Given the description of an element on the screen output the (x, y) to click on. 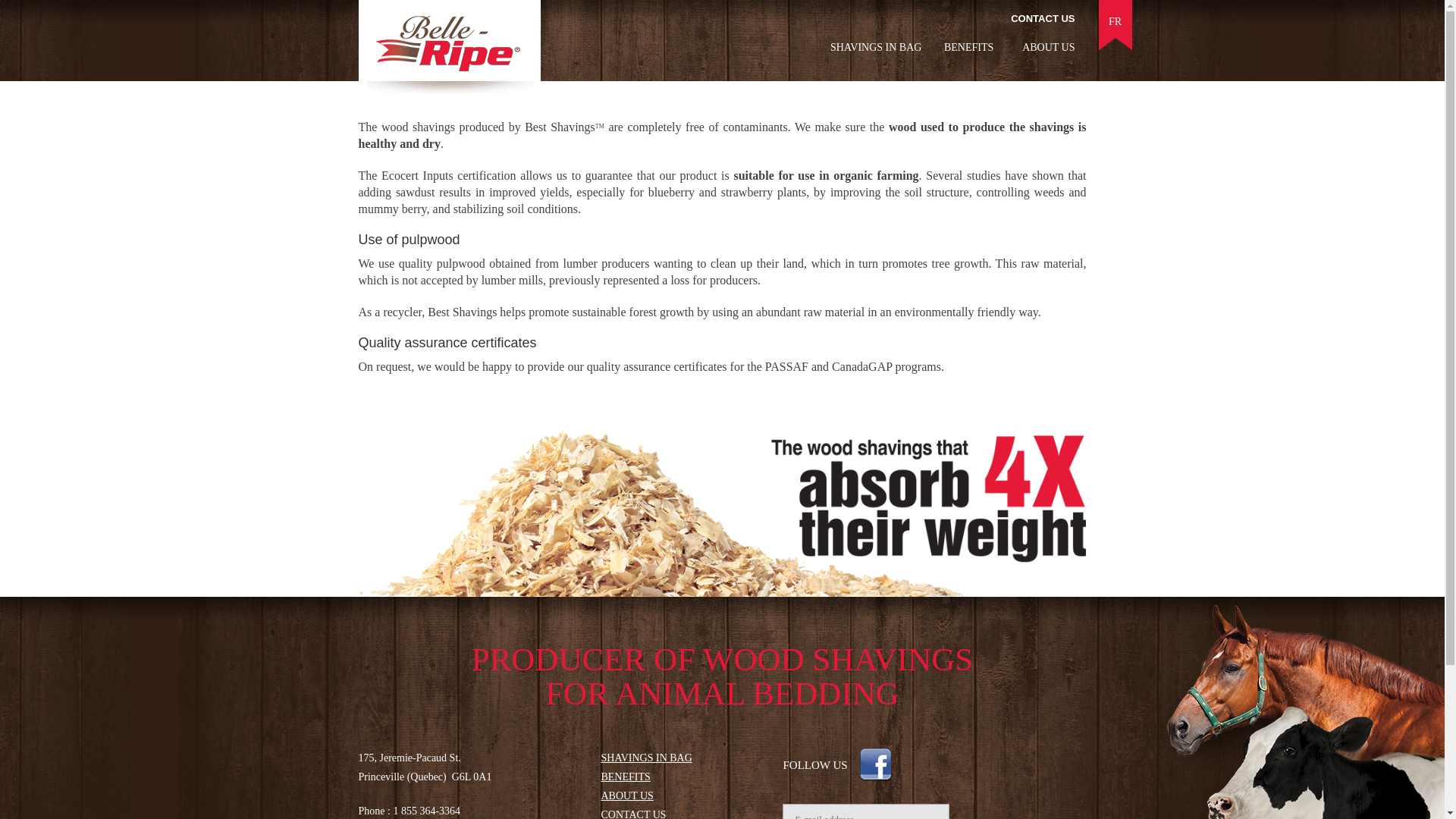
BENEFITS (967, 47)
CONTACT US (632, 814)
ABOUT US (1048, 47)
ABOUT US (625, 795)
FR (1114, 21)
SHAVINGS IN BAG (645, 757)
SHAVINGS IN BAG (875, 47)
CONTACT US (1042, 18)
BENEFITS (624, 776)
